Given the description of an element on the screen output the (x, y) to click on. 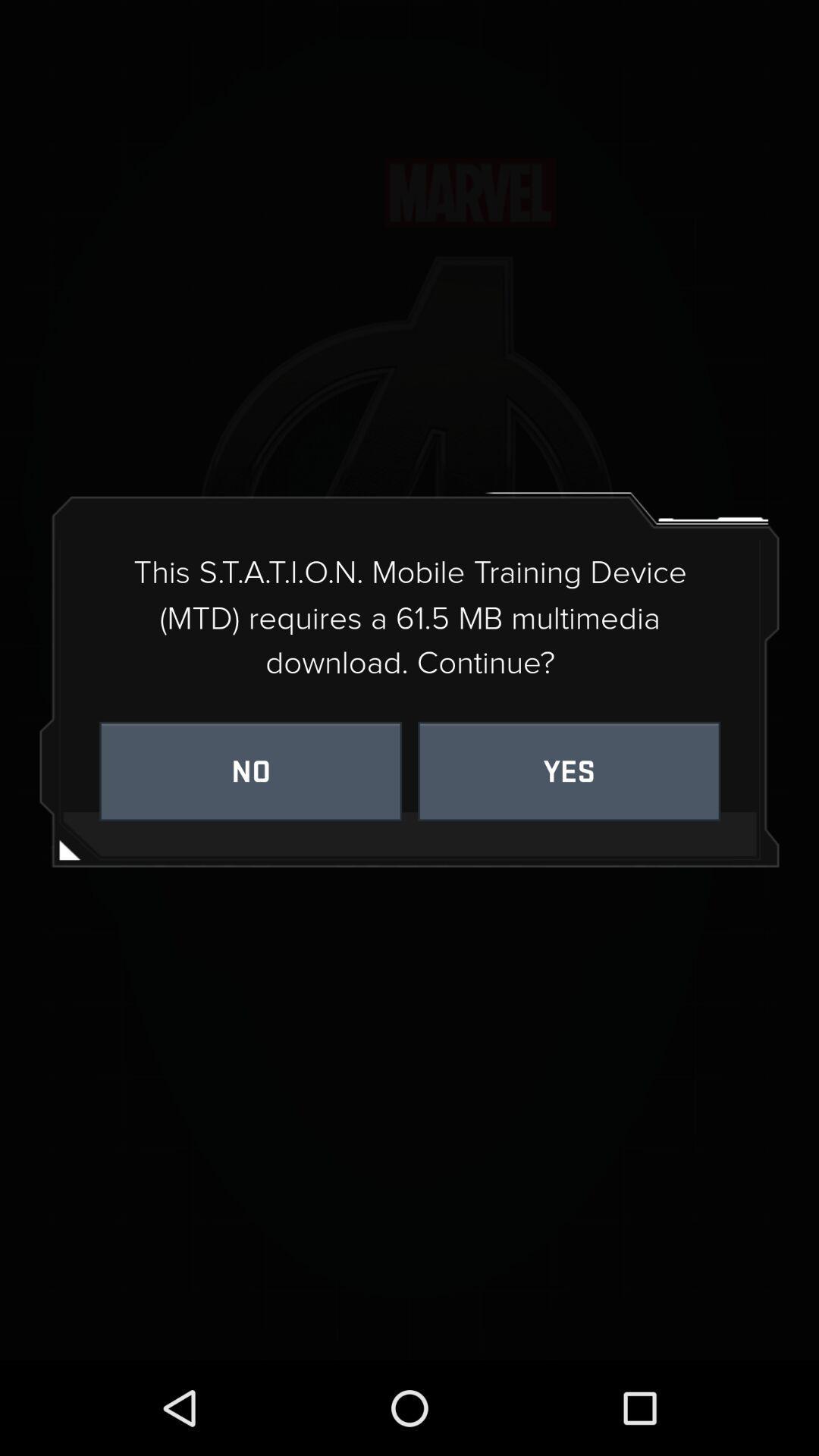
turn on item below this s t (250, 771)
